Given the description of an element on the screen output the (x, y) to click on. 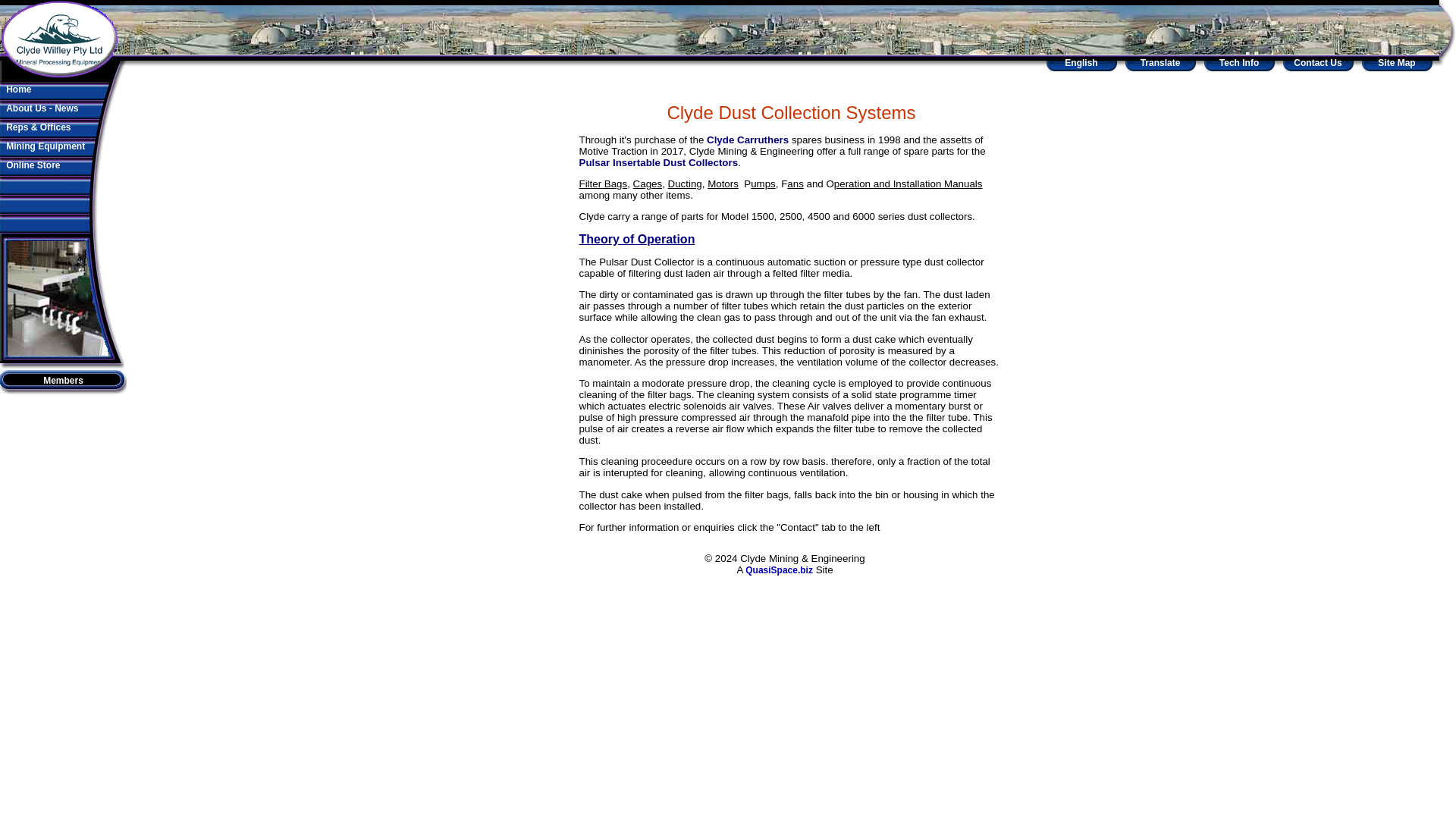
Site Map (1396, 62)
QuasiSpace.biz (778, 570)
Members (62, 380)
About Us - News (41, 108)
Home (17, 89)
Contact Us (1317, 62)
Translate (1160, 62)
Tech Info (1239, 62)
Mining Equipment (44, 145)
Online Store (32, 164)
